Given the description of an element on the screen output the (x, y) to click on. 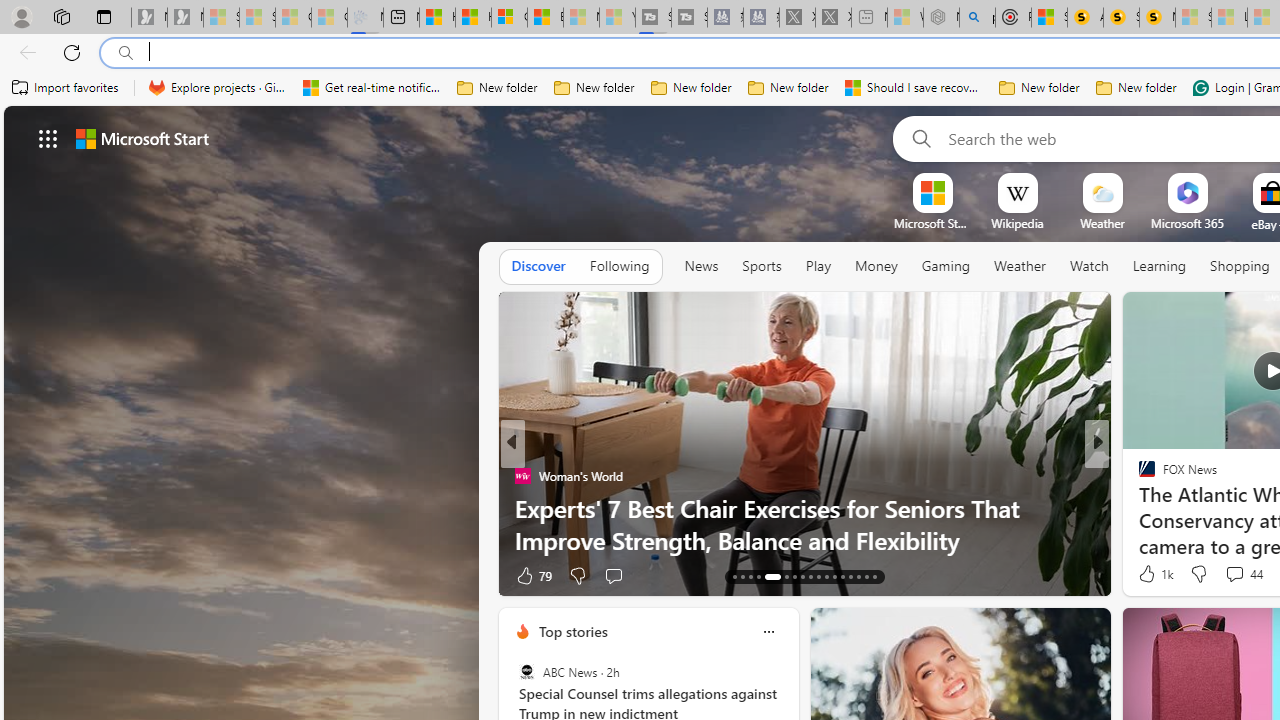
X - Sleeping (833, 17)
AutomationID: tab-21 (810, 576)
Ad (1142, 575)
39 Like (1149, 574)
Weather (1019, 267)
View comments 5 Comment (1229, 575)
View comments 44 Comment (1234, 573)
Gaming (945, 265)
View comments 77 Comment (1234, 575)
Learning (1159, 265)
92 Like (1149, 574)
More options (768, 631)
Workspaces (61, 16)
